Given the description of an element on the screen output the (x, y) to click on. 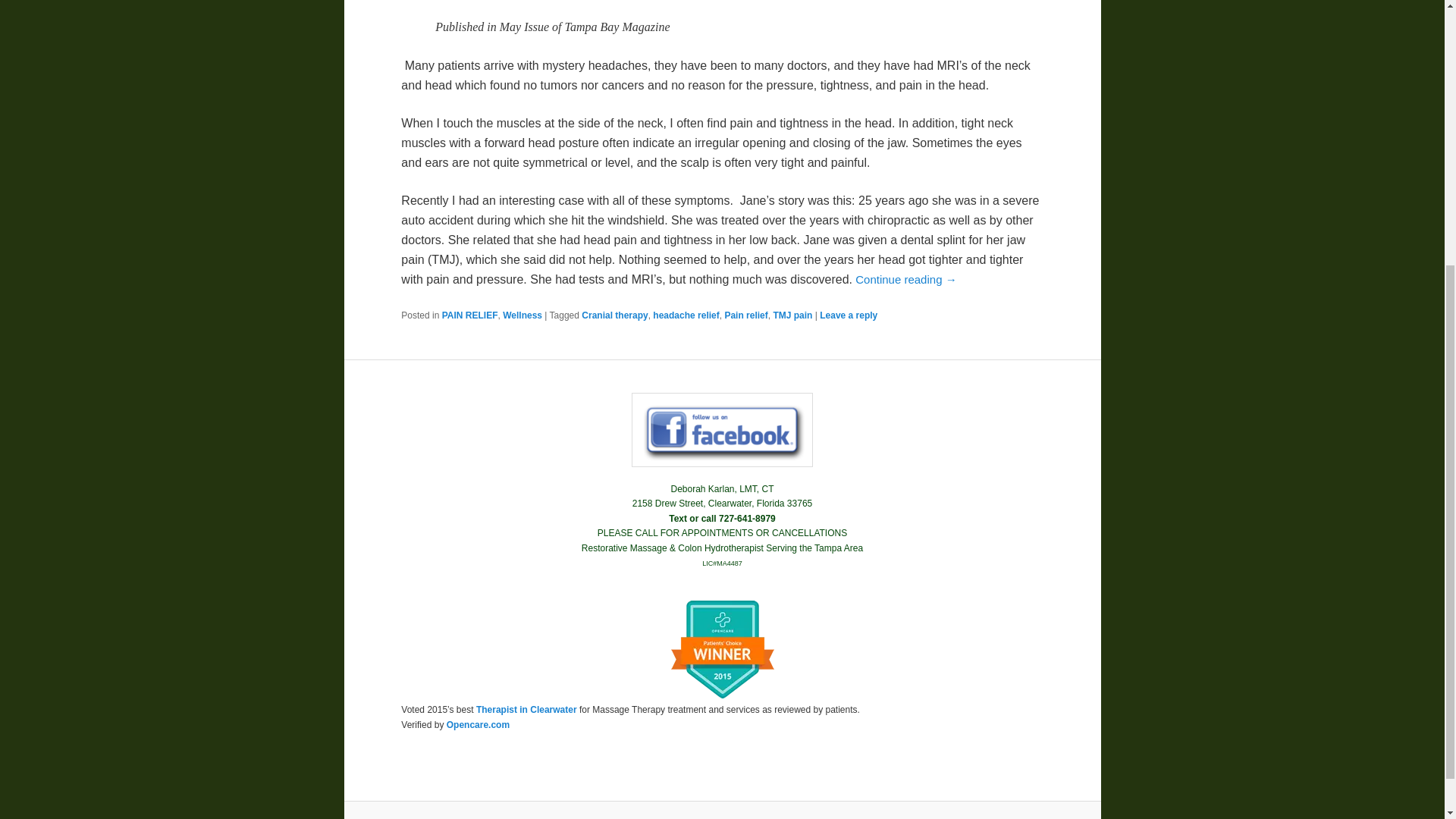
Opencare.com (477, 724)
Leave a reply (848, 315)
Therapist in Clearwater (526, 709)
TMJ pain (792, 315)
Cranial therapy (613, 315)
Wellness (521, 315)
PAIN RELIEF (469, 315)
Pain relief (745, 315)
headache relief (685, 315)
